Given the description of an element on the screen output the (x, y) to click on. 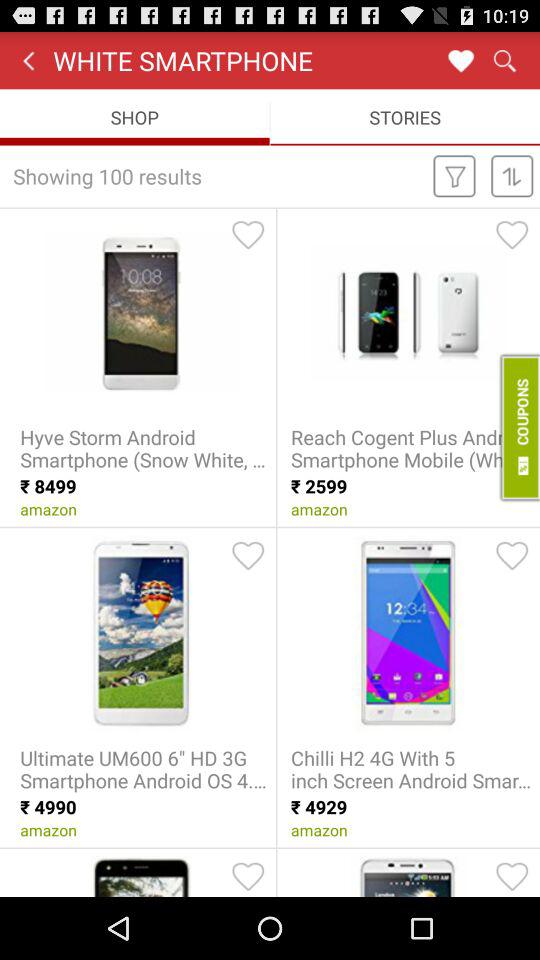
turn off the app next to the showing 100 results item (454, 175)
